Given the description of an element on the screen output the (x, y) to click on. 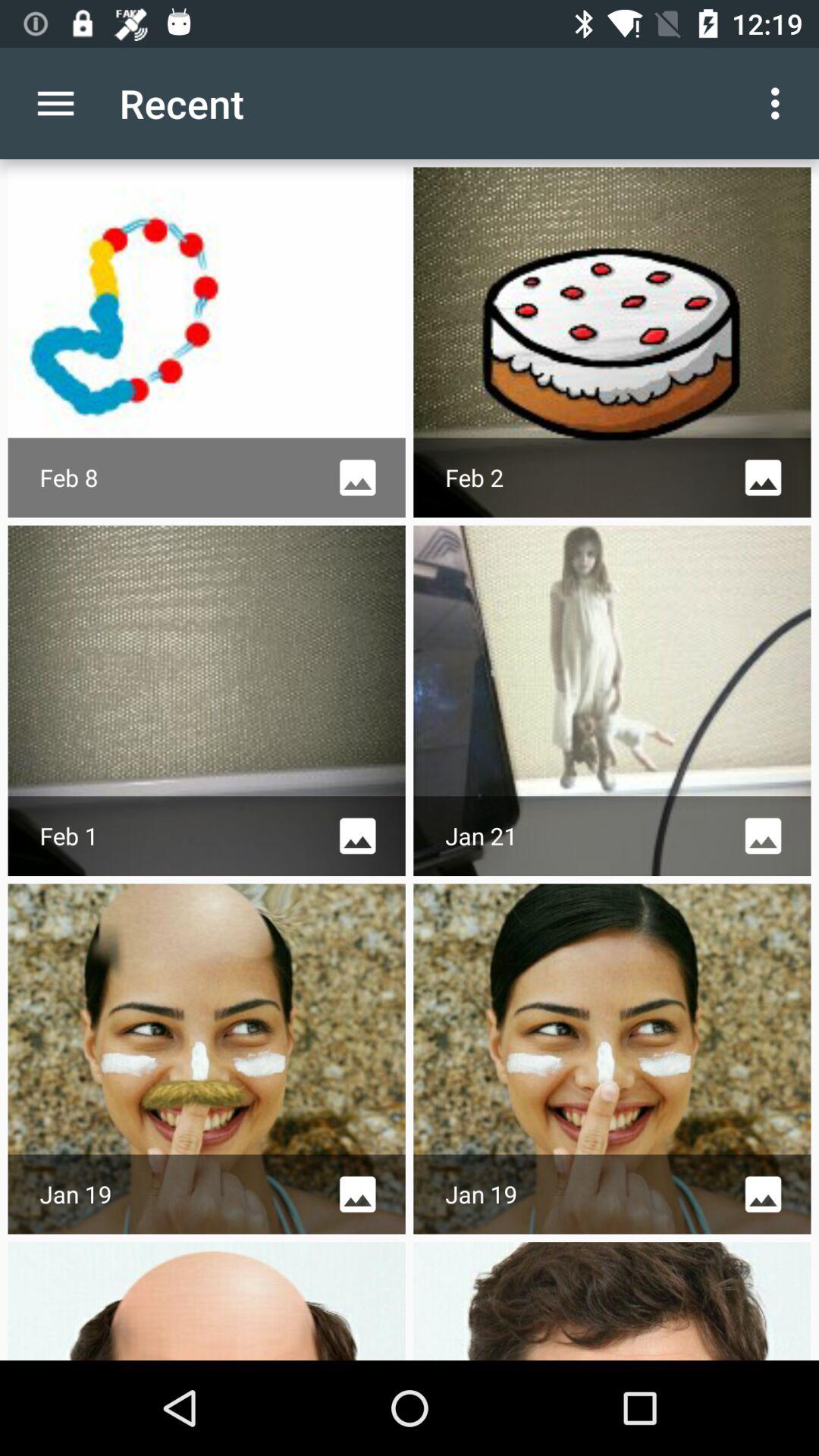
tap item next to the recent app (779, 103)
